Given the description of an element on the screen output the (x, y) to click on. 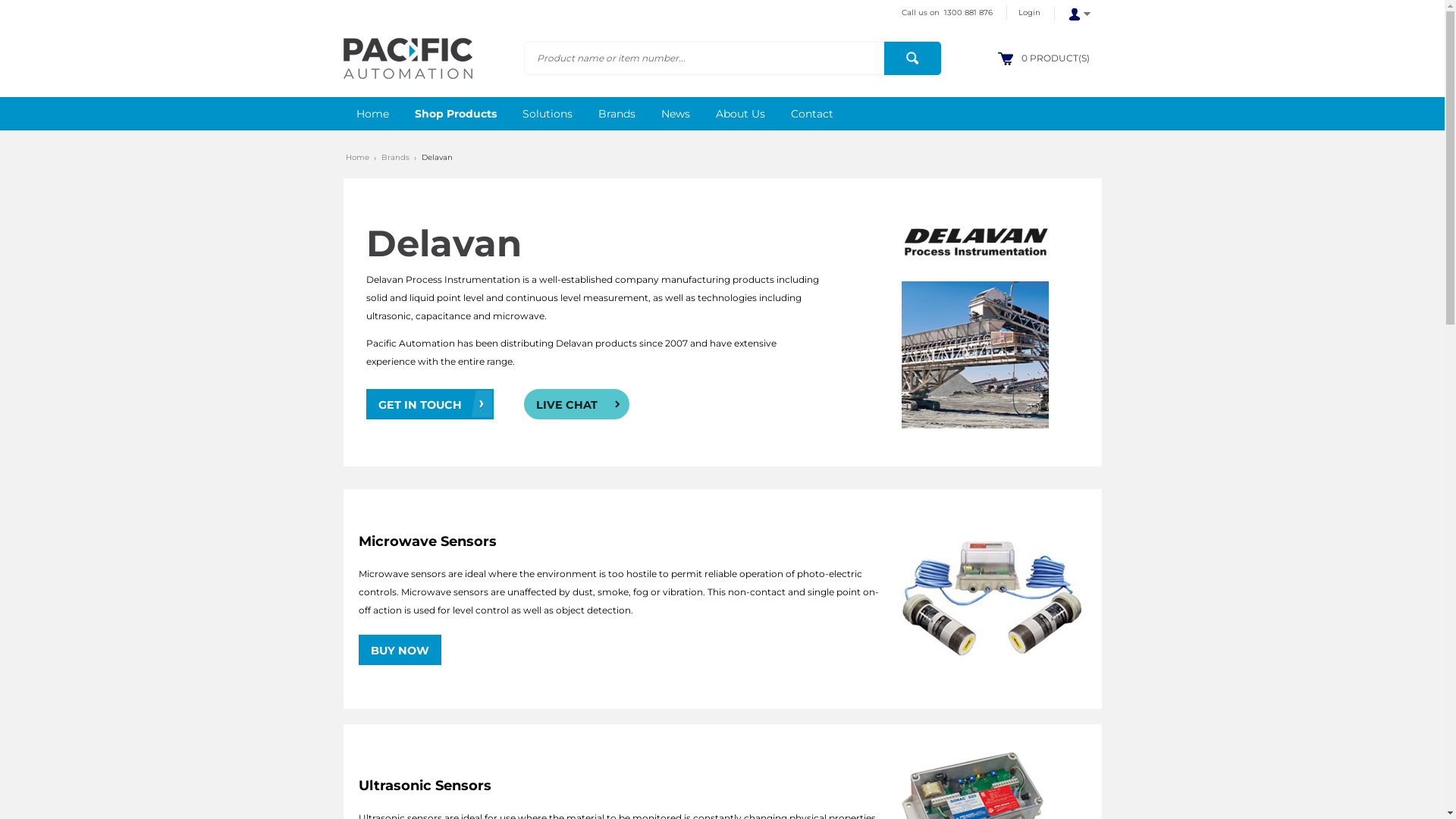
Contact Element type: text (812, 113)
Home Element type: text (371, 113)
0 PRODUCT(S) Element type: text (1054, 56)
Solutions Element type: text (547, 113)
Call us on  1300 881 876 Element type: text (947, 12)
GET IN TOUCH Element type: text (428, 403)
Shop Products Element type: text (455, 113)
Brands Element type: text (616, 113)
Home Element type: text (357, 157)
News Element type: text (674, 113)
LIVE CHAT Element type: text (575, 403)
Brands Element type: text (394, 157)
Delavan Element type: text (436, 157)
About Us Element type: text (739, 113)
Login Element type: text (1028, 12)
Search products Element type: hover (912, 57)
BUY NOW Element type: text (398, 649)
